Given the description of an element on the screen output the (x, y) to click on. 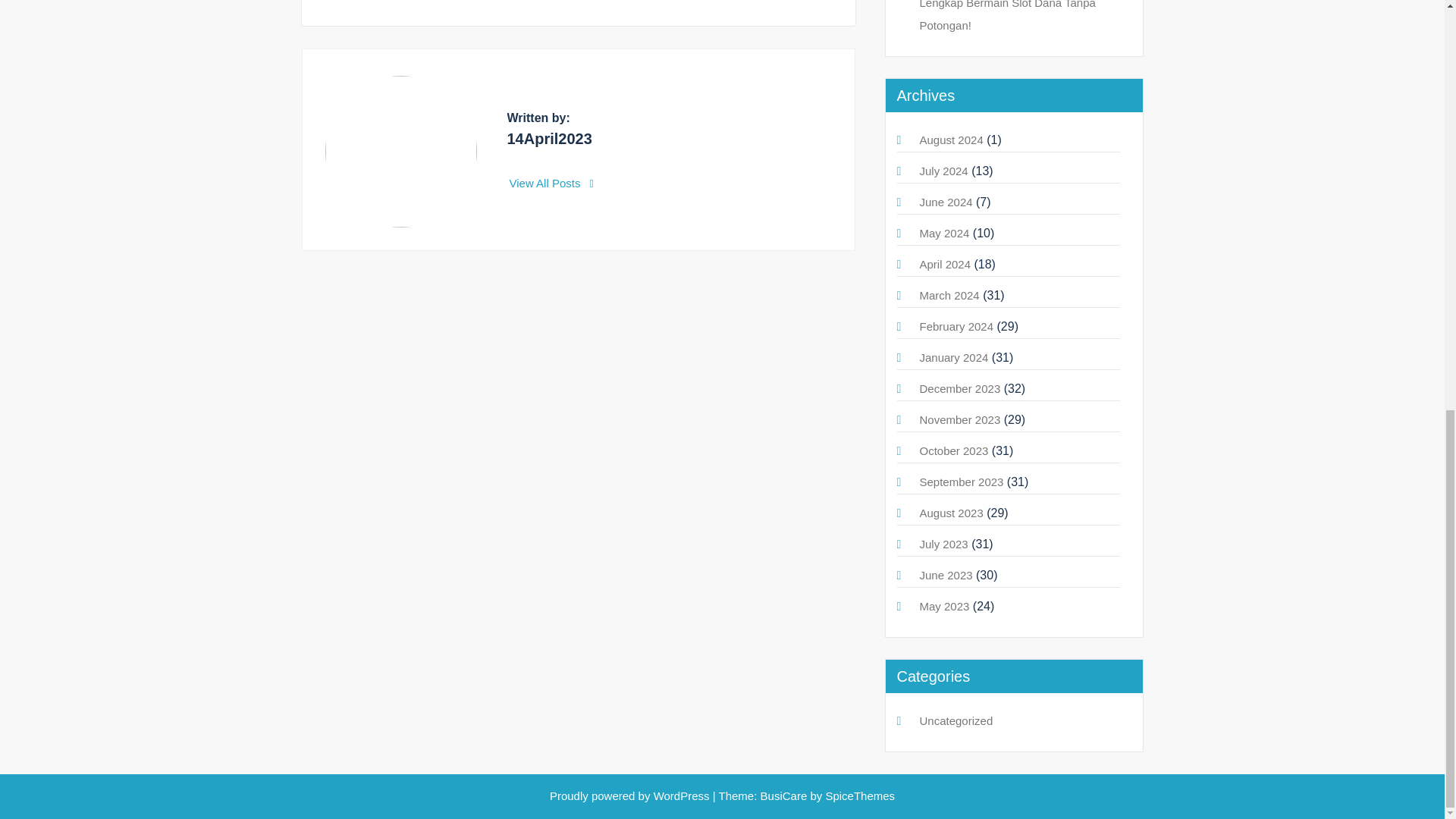
View All Posts (551, 182)
June 2023 (945, 574)
March 2024 (948, 295)
December 2023 (959, 388)
July 2024 (943, 170)
August 2023 (950, 512)
Uncategorized (955, 720)
August 2024 (950, 139)
July 2023 (943, 543)
September 2023 (960, 481)
